Given the description of an element on the screen output the (x, y) to click on. 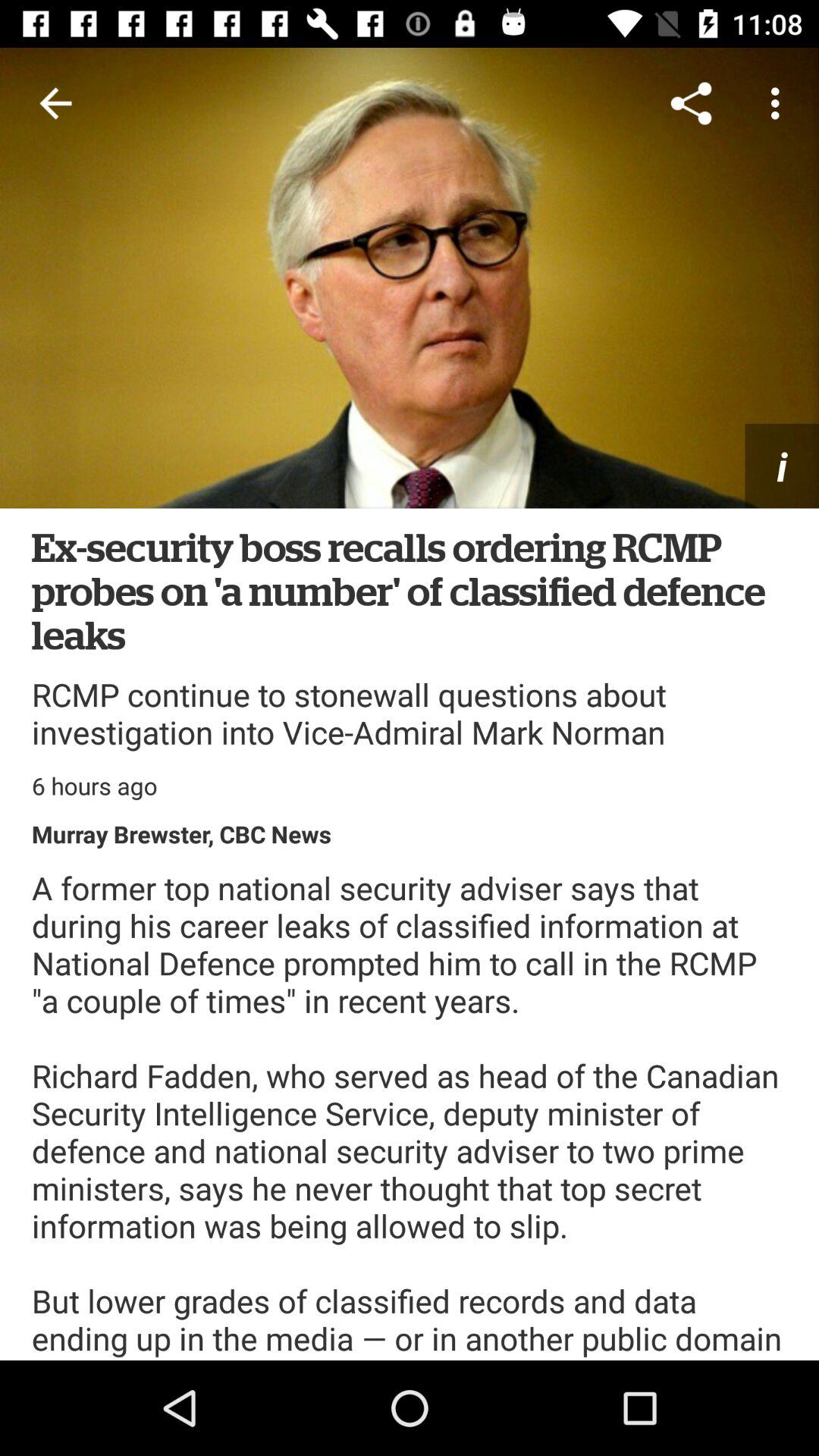
jump until the murray brewster cbc icon (181, 833)
